Given the description of an element on the screen output the (x, y) to click on. 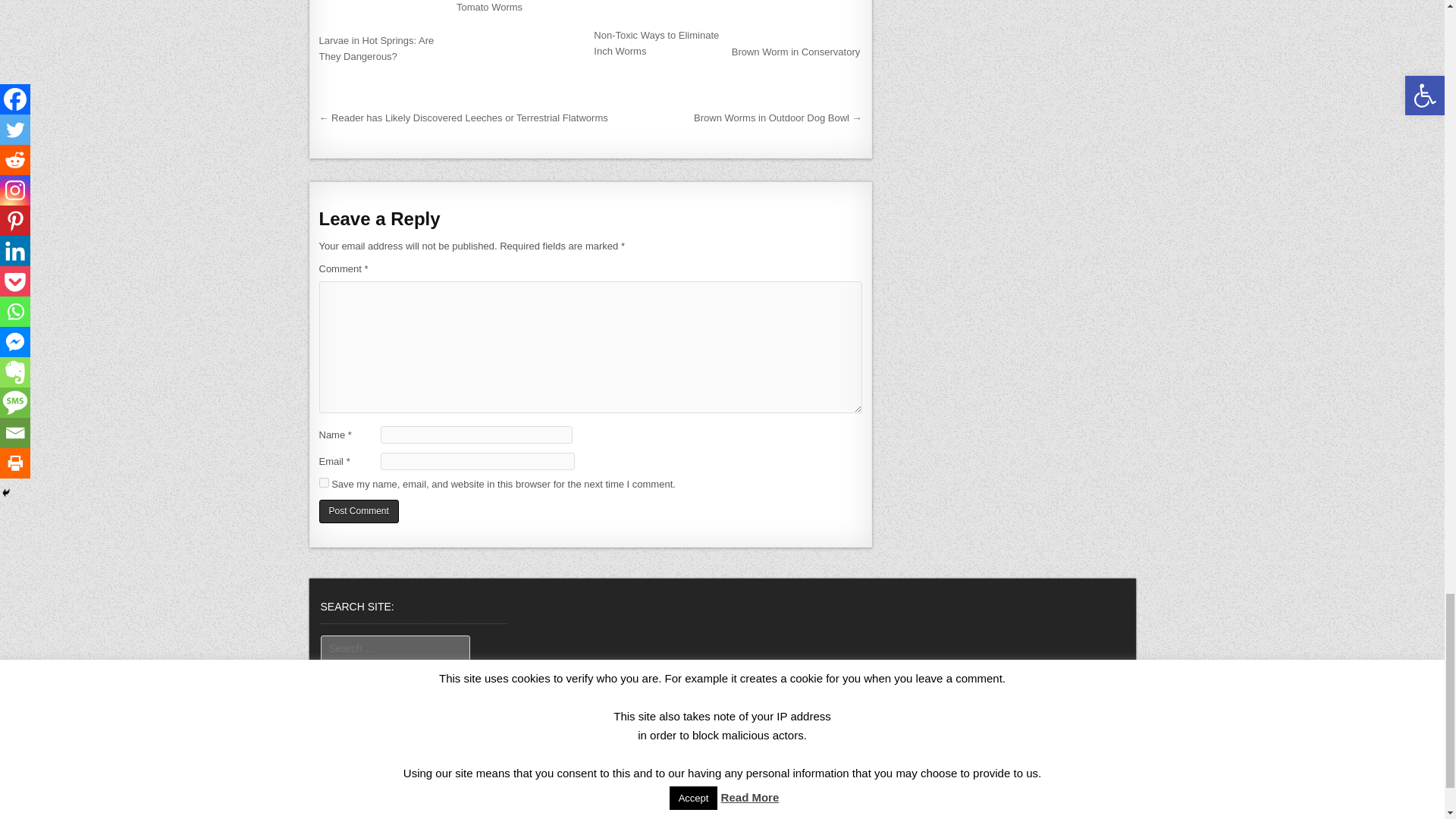
Search (344, 672)
Post Comment (357, 511)
Search (344, 672)
yes (323, 482)
